Given the description of an element on the screen output the (x, y) to click on. 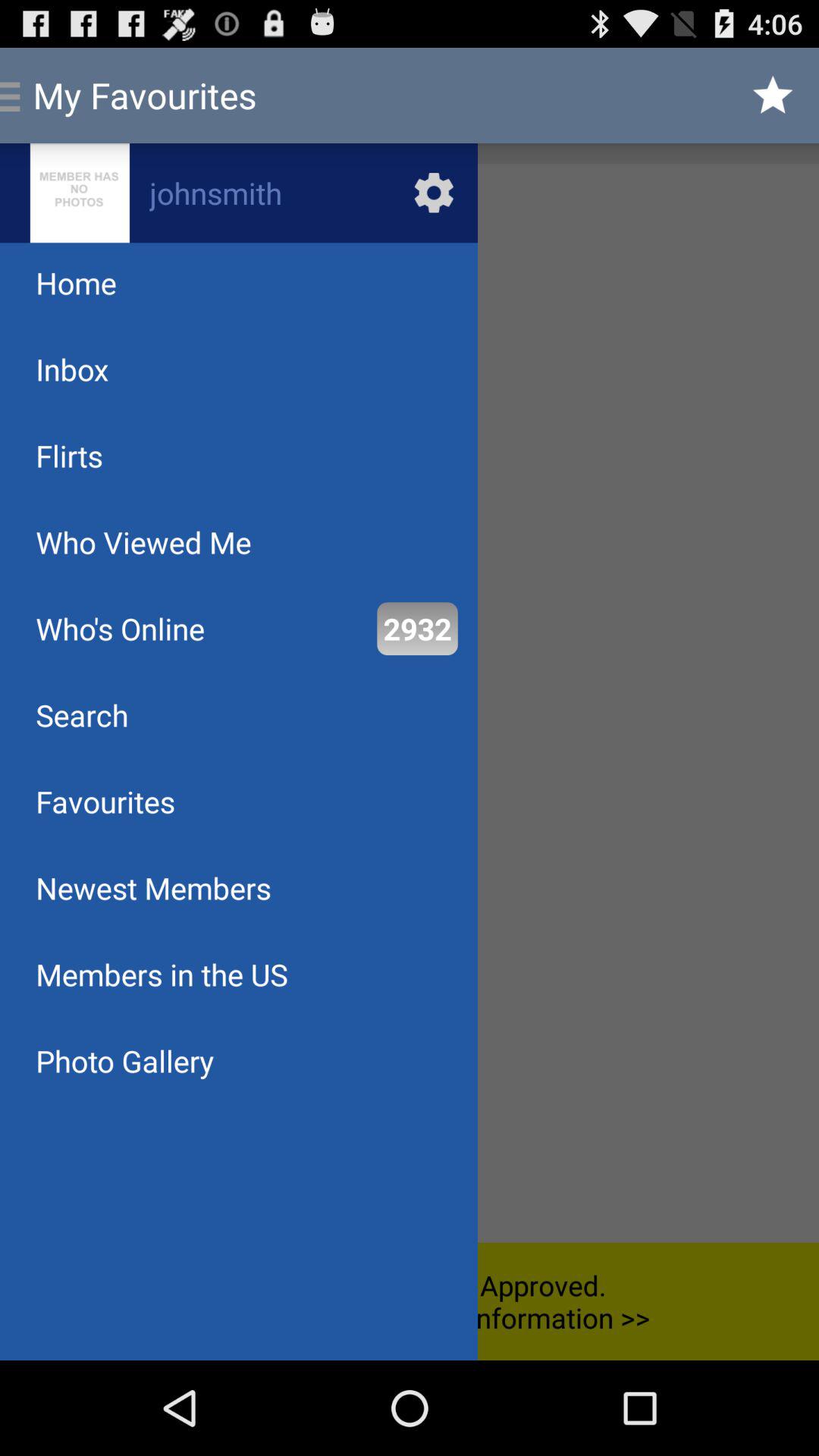
choose app to the right of the who's online (417, 628)
